Given the description of an element on the screen output the (x, y) to click on. 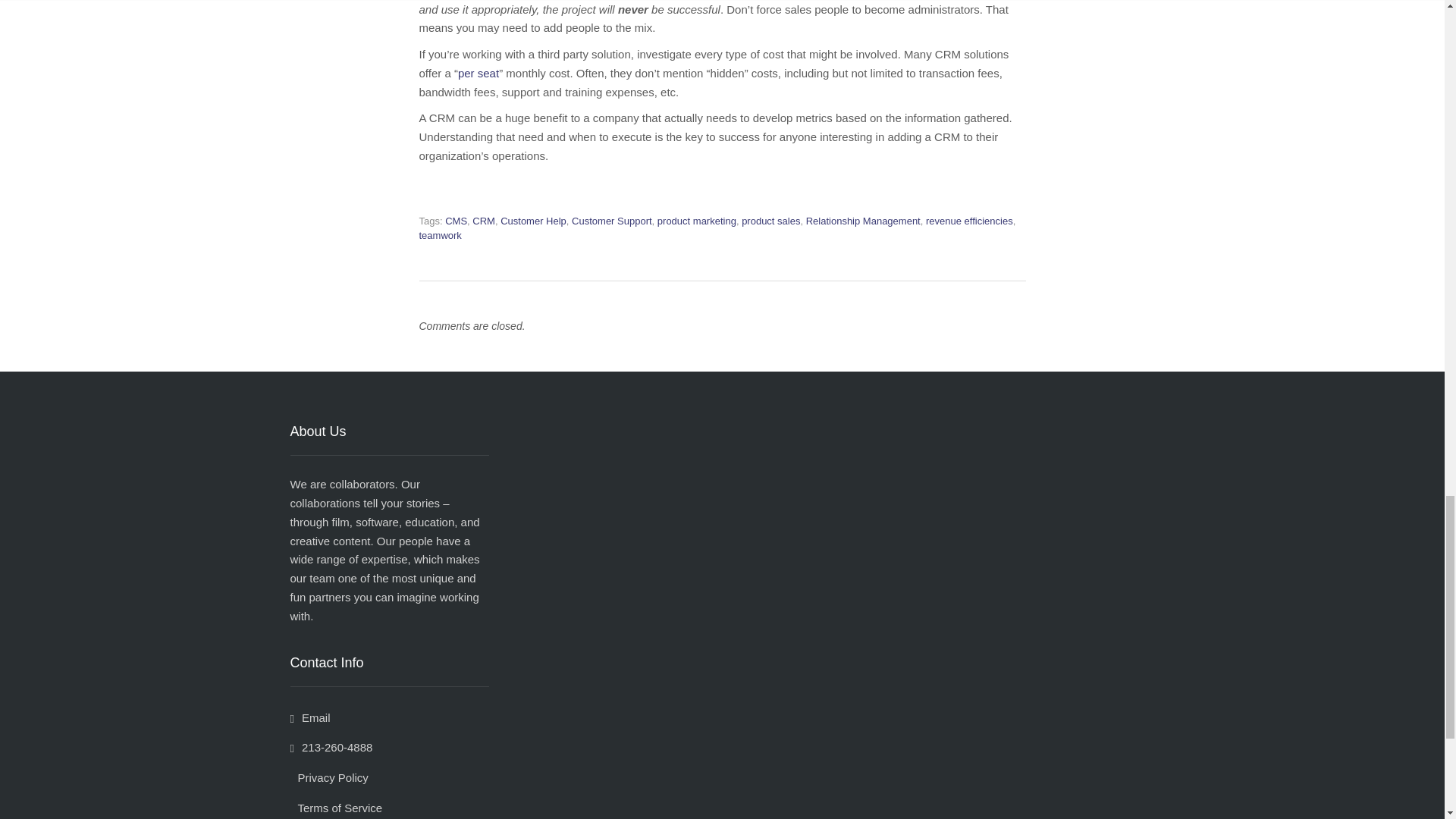
213-260-4888 (330, 747)
Email (309, 717)
Customer Help (533, 220)
Customer Support (612, 220)
Relationship Management (863, 220)
per seat (478, 72)
Privacy Policy (328, 777)
Terms of Service (335, 807)
CMS (456, 220)
product sales (770, 220)
